Given the description of an element on the screen output the (x, y) to click on. 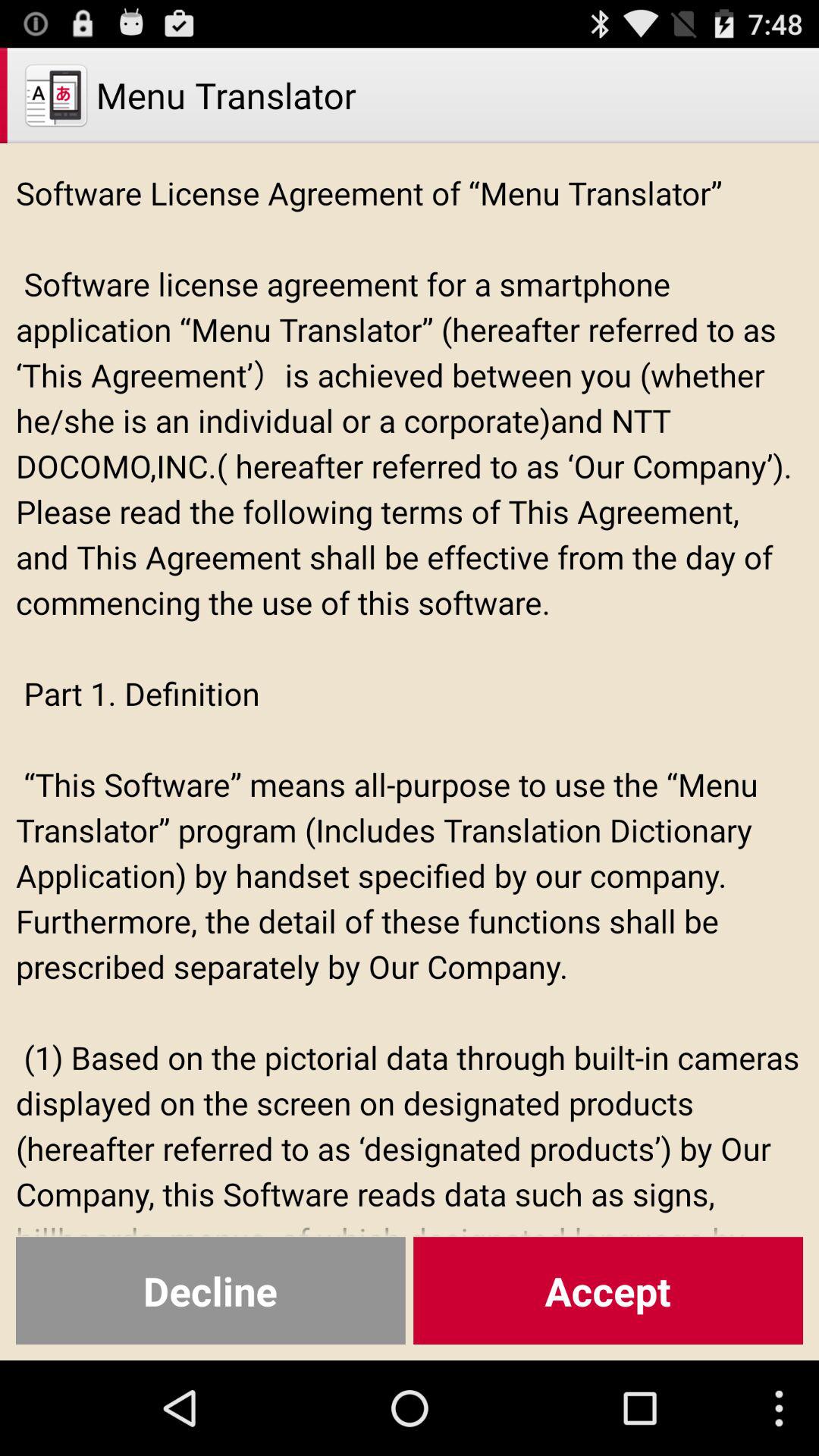
choose icon at the bottom right corner (608, 1290)
